Given the description of an element on the screen output the (x, y) to click on. 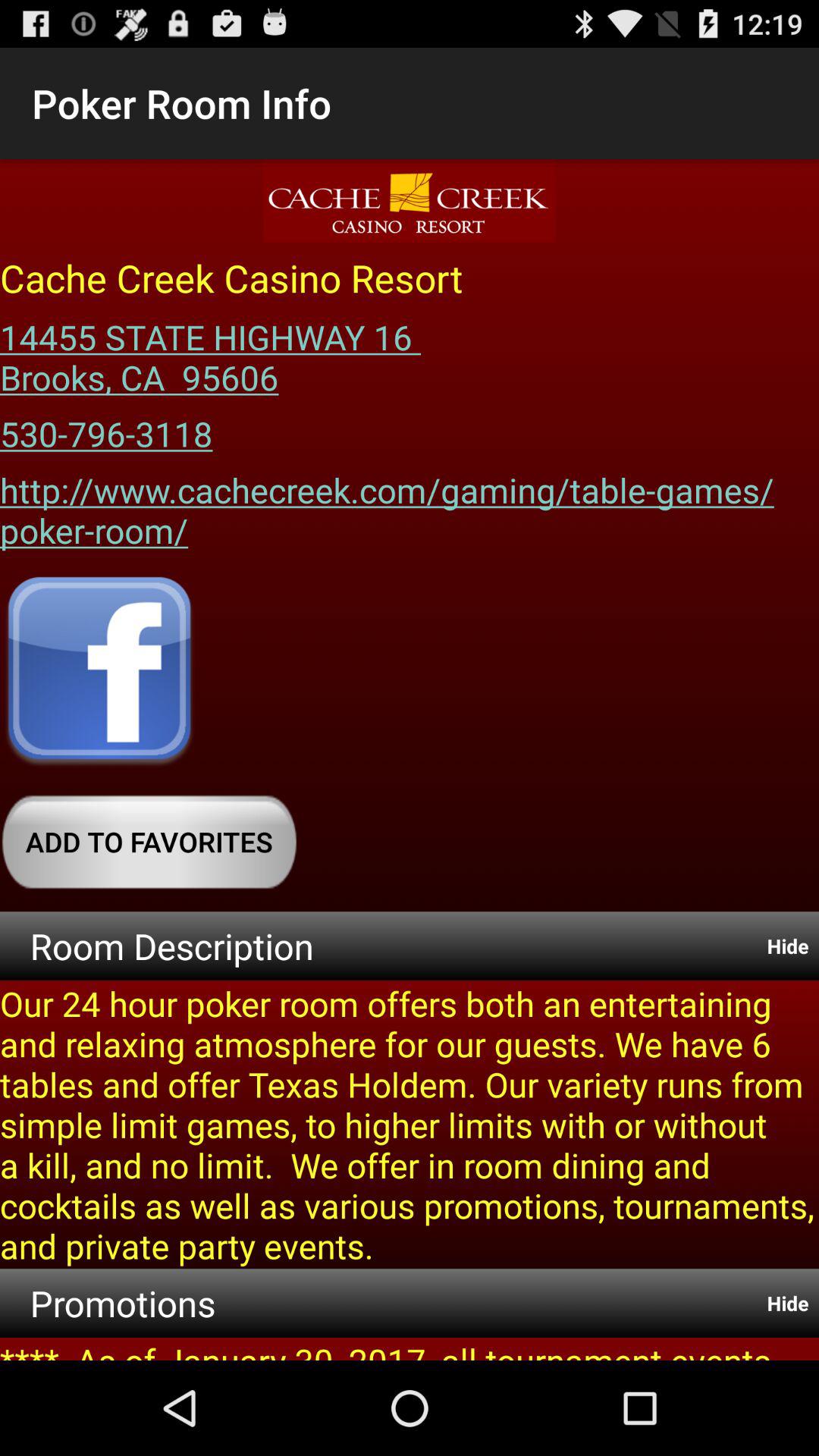
choose the item at the center (409, 504)
